Given the description of an element on the screen output the (x, y) to click on. 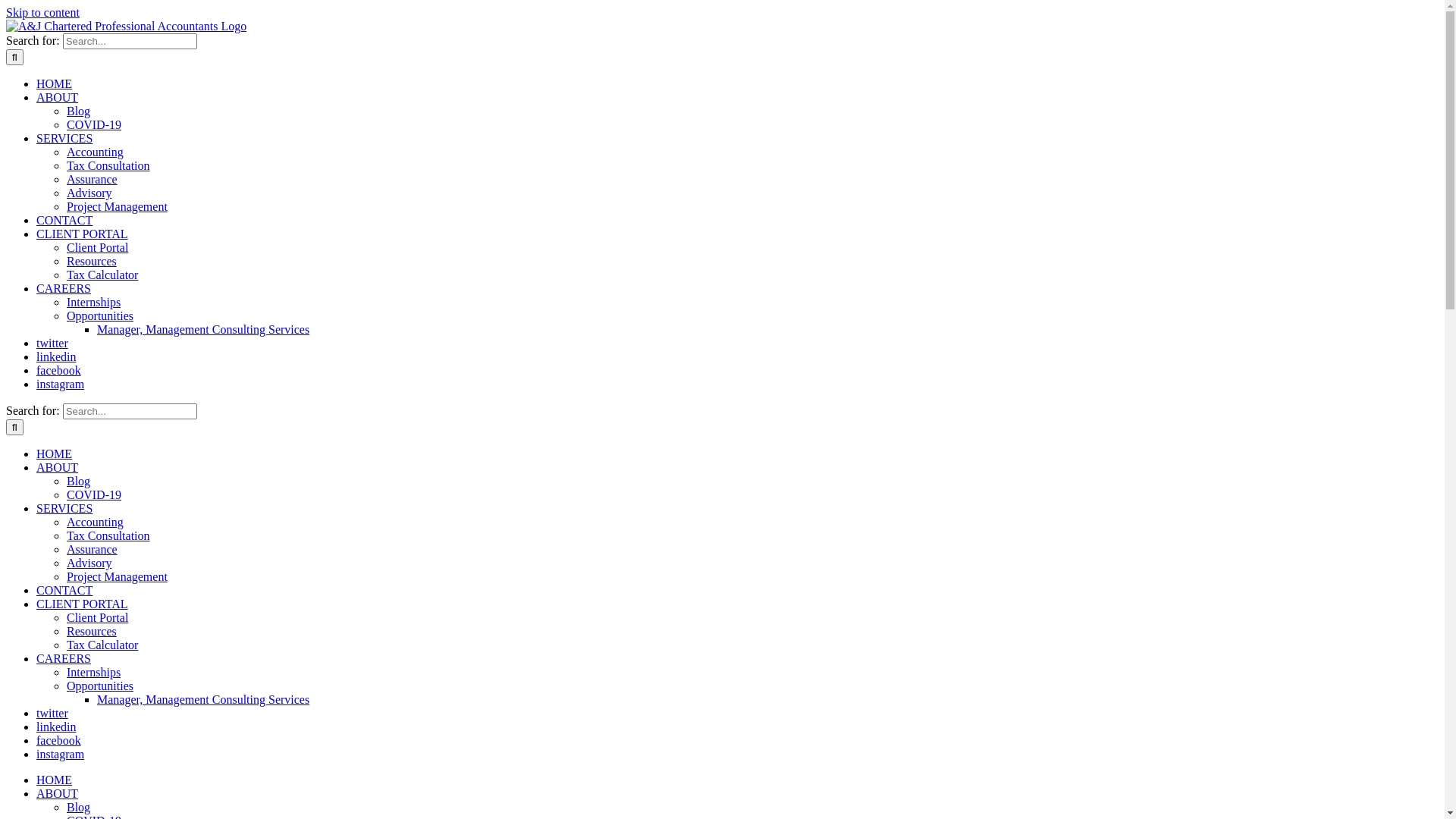
Blog Element type: text (78, 480)
linkedin Element type: text (55, 726)
Resources Element type: text (91, 630)
facebook Element type: text (58, 370)
HOME Element type: text (54, 779)
CONTACT Element type: text (64, 219)
instagram Element type: text (60, 753)
HOME Element type: text (54, 453)
SERVICES Element type: text (64, 137)
Accounting Element type: text (94, 151)
Blog Element type: text (78, 806)
Assurance Element type: text (91, 548)
HOME Element type: text (54, 83)
Tax Consultation Element type: text (108, 535)
Internships Element type: text (93, 671)
CAREERS Element type: text (63, 288)
Resources Element type: text (91, 260)
COVID-19 Element type: text (93, 124)
Manager, Management Consulting Services Element type: text (203, 699)
Tax Consultation Element type: text (108, 165)
SERVICES Element type: text (64, 508)
twitter Element type: text (52, 342)
linkedin Element type: text (55, 356)
Advisory Element type: text (89, 562)
Tax Calculator Element type: text (102, 274)
instagram Element type: text (60, 383)
ABOUT Element type: text (57, 467)
Client Portal Element type: text (97, 617)
Blog Element type: text (78, 110)
Project Management Element type: text (116, 576)
twitter Element type: text (52, 712)
ABOUT Element type: text (57, 97)
Internships Element type: text (93, 301)
CAREERS Element type: text (63, 658)
CLIENT PORTAL Element type: text (82, 603)
ABOUT Element type: text (57, 793)
Project Management Element type: text (116, 206)
COVID-19 Element type: text (93, 494)
Manager, Management Consulting Services Element type: text (203, 329)
Assurance Element type: text (91, 178)
Advisory Element type: text (89, 192)
Tax Calculator Element type: text (102, 644)
Client Portal Element type: text (97, 247)
CLIENT PORTAL Element type: text (82, 233)
Accounting Element type: text (94, 521)
Opportunities Element type: text (99, 315)
CONTACT Element type: text (64, 589)
Opportunities Element type: text (99, 685)
Skip to content Element type: text (42, 12)
facebook Element type: text (58, 740)
